Given the description of an element on the screen output the (x, y) to click on. 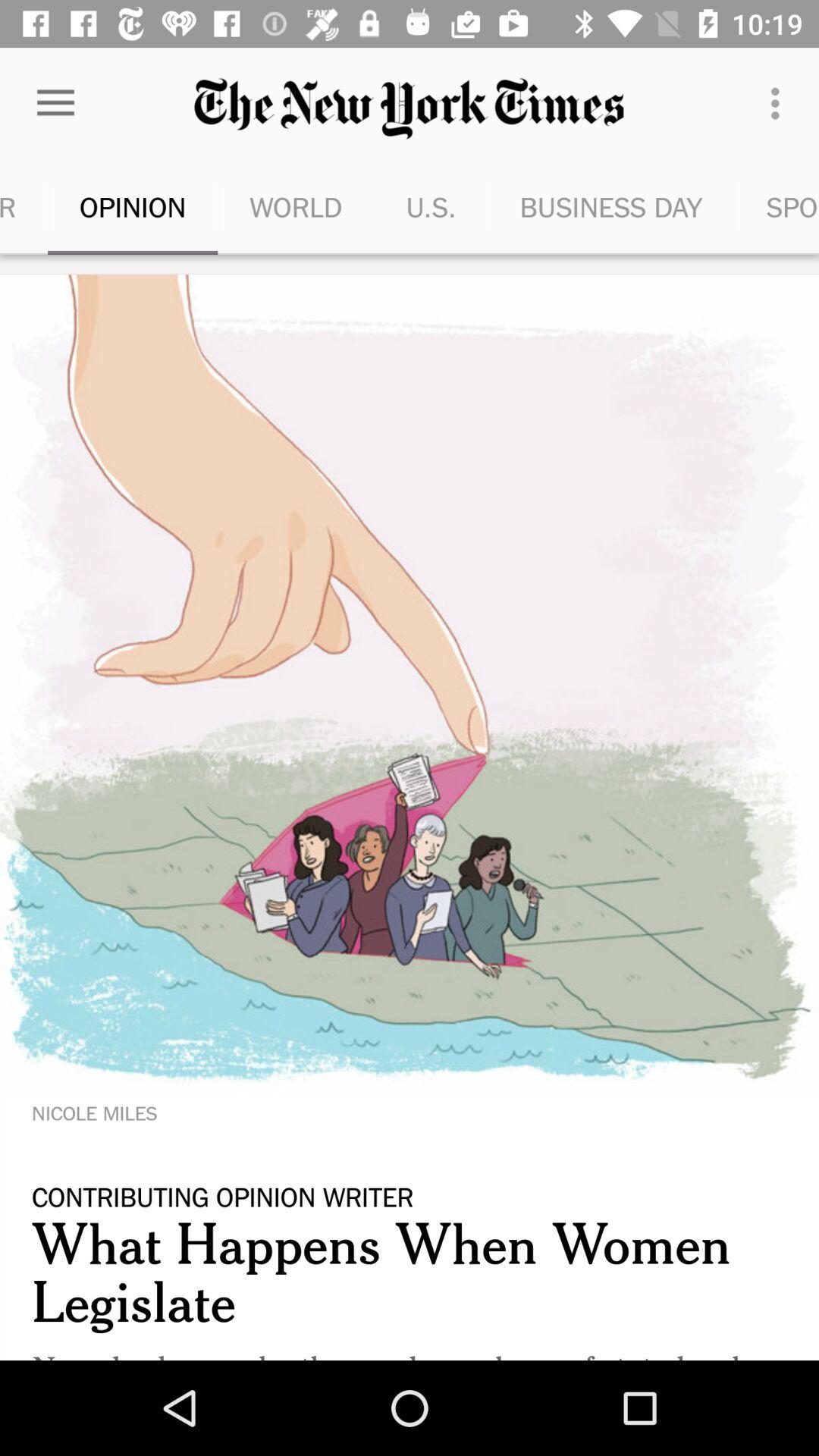
turn off the sports item (776, 206)
